Given the description of an element on the screen output the (x, y) to click on. 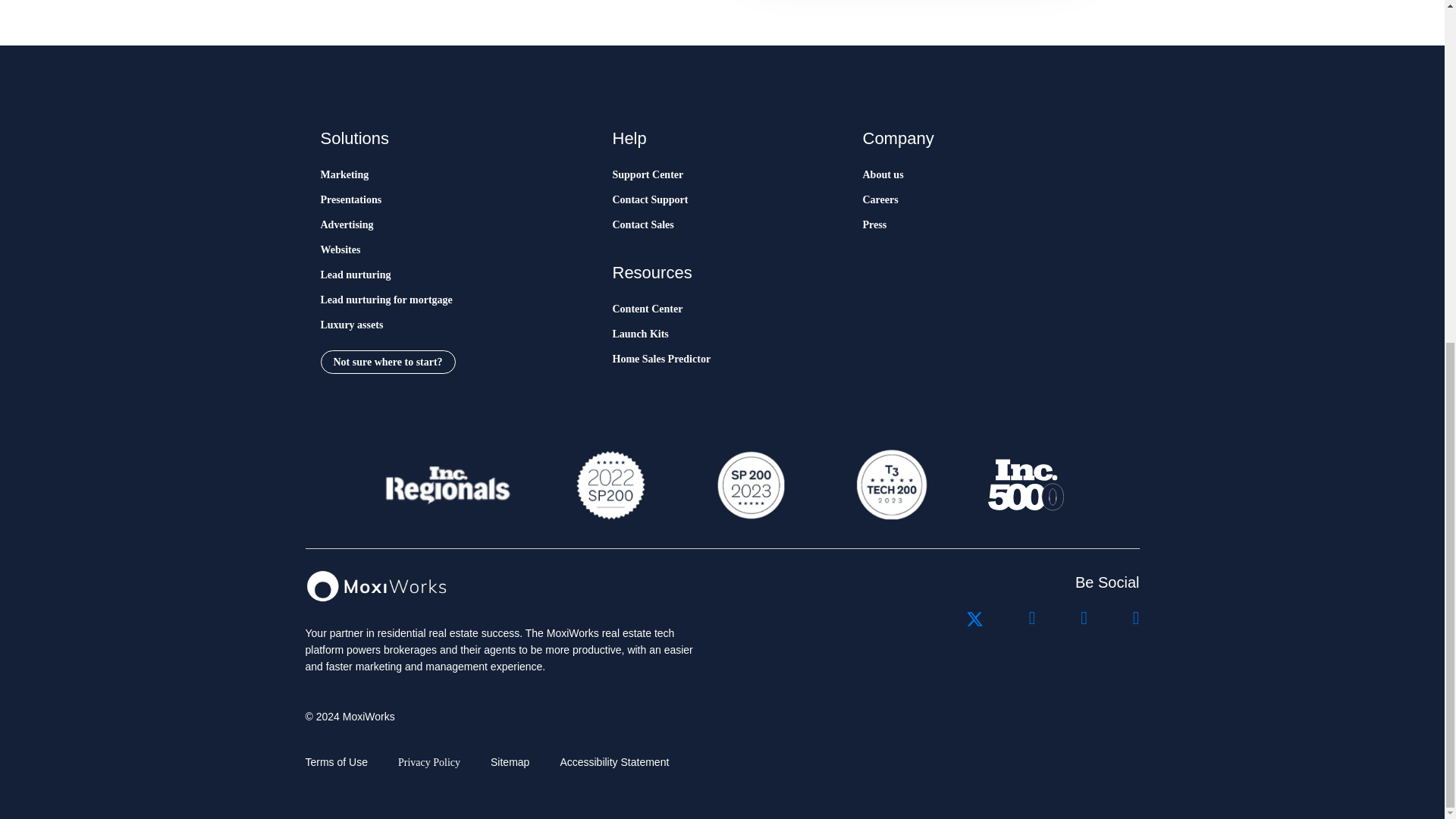
T3 tech 200 2023 (890, 484)
SP 2023 (749, 484)
SP 2022 (610, 484)
